Given the description of an element on the screen output the (x, y) to click on. 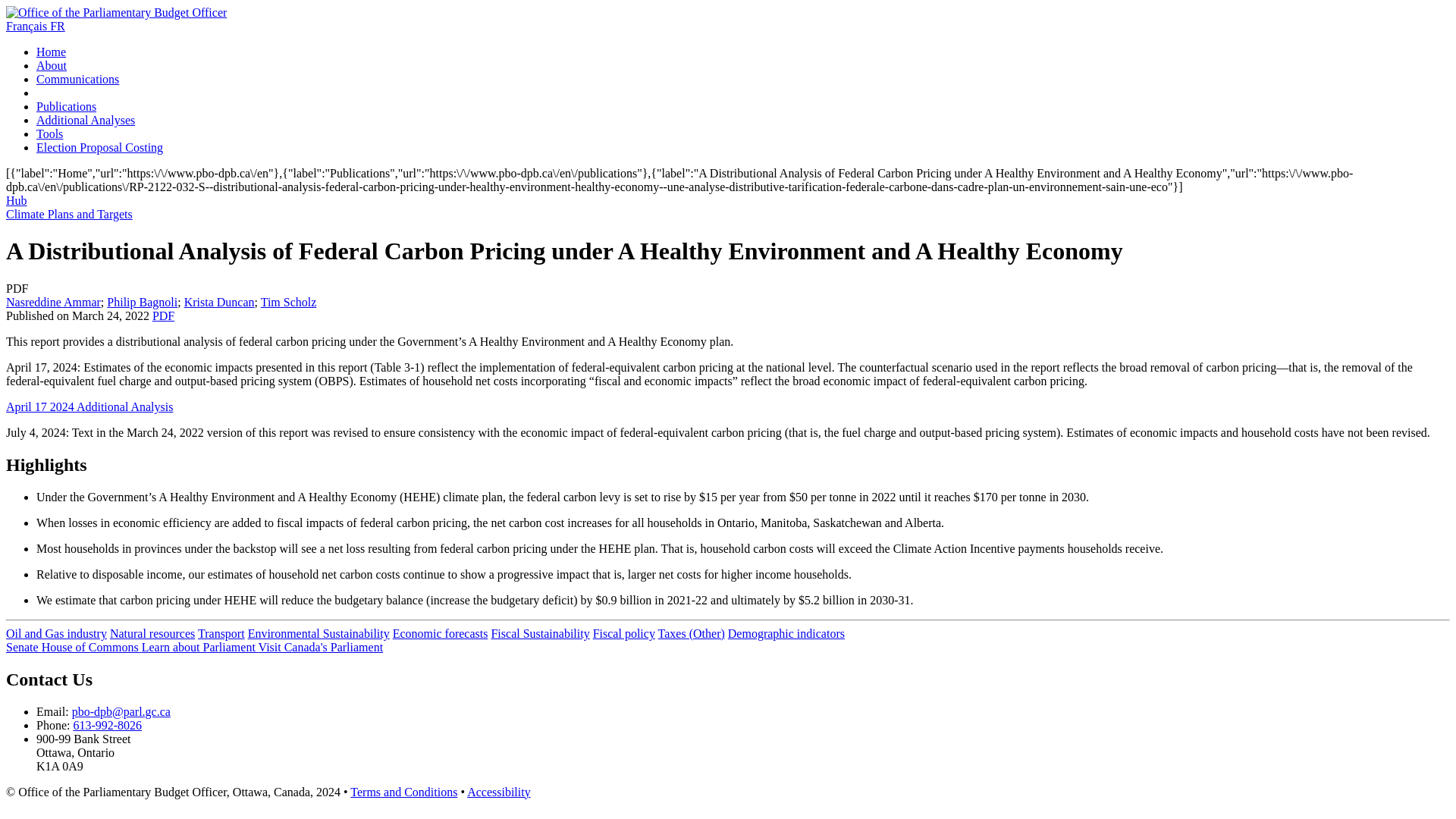
Oil and Gas industry (55, 633)
Senate (23, 646)
Learn about Parliament (200, 646)
Economic forecasts (440, 633)
Home (50, 51)
Visit Canada's Parliament (321, 646)
Transport (221, 633)
Fiscal policy (623, 633)
Communications (77, 78)
Publications (66, 106)
613-992-8026 (106, 725)
April 17 2024 Additional Analysis (89, 406)
Krista Duncan (219, 301)
About (51, 65)
Tools (49, 133)
